Given the description of an element on the screen output the (x, y) to click on. 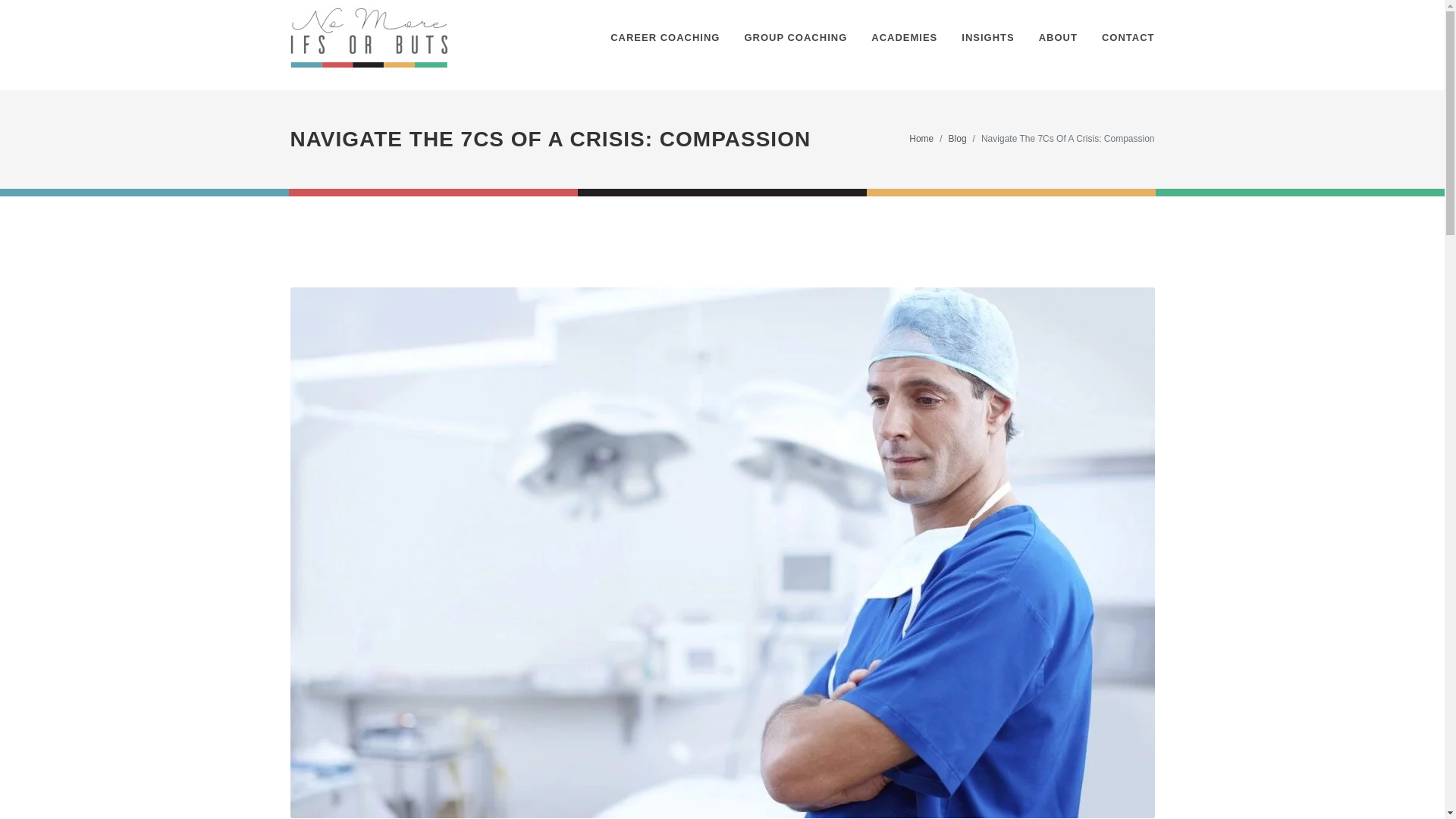
Home (920, 138)
GROUP COACHING (795, 38)
INSIGHTS (987, 38)
Blog (957, 138)
ACADEMIES (904, 38)
CAREER COACHING (664, 38)
